Given the description of an element on the screen output the (x, y) to click on. 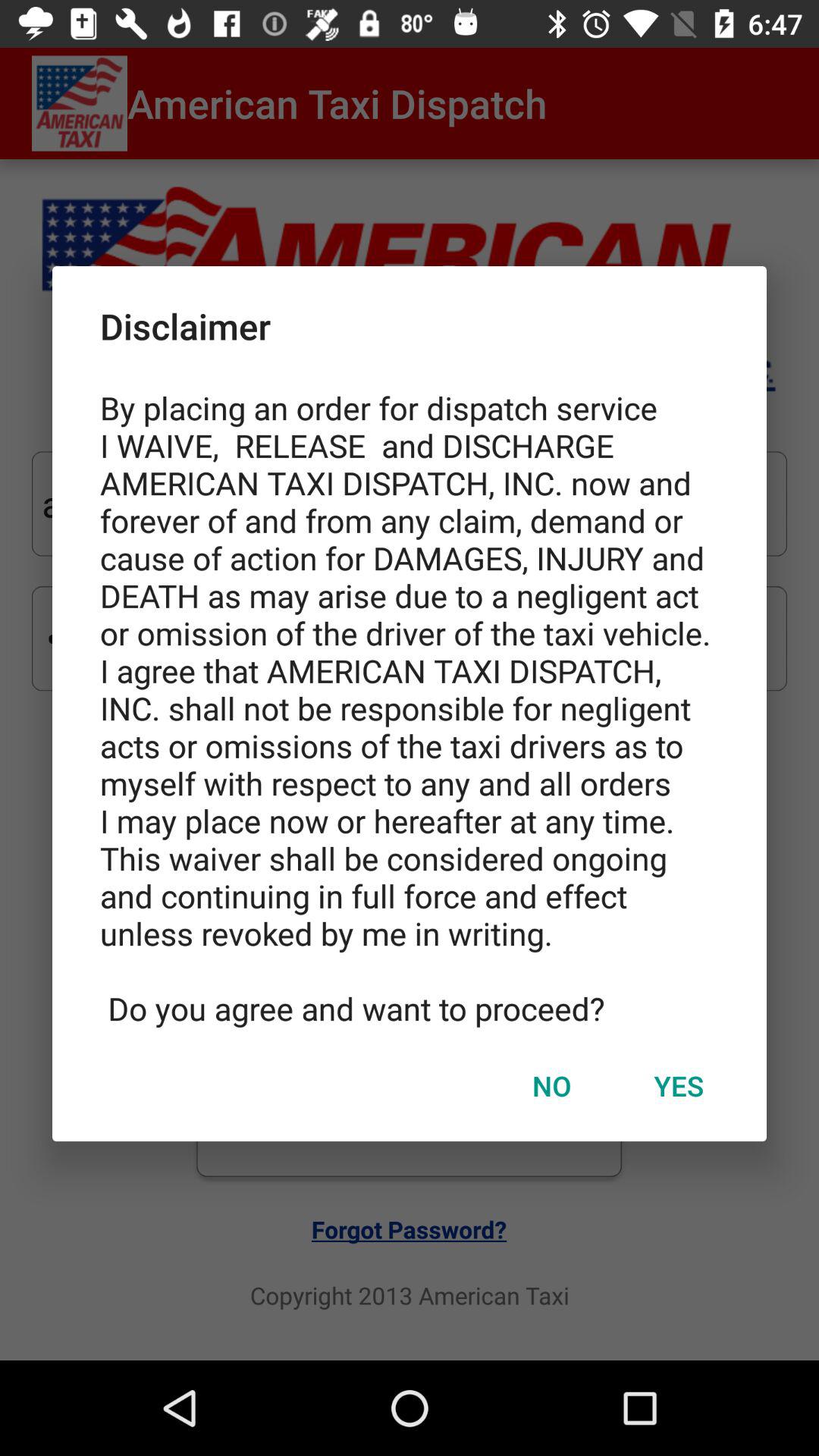
open the icon next to no icon (678, 1085)
